Given the description of an element on the screen output the (x, y) to click on. 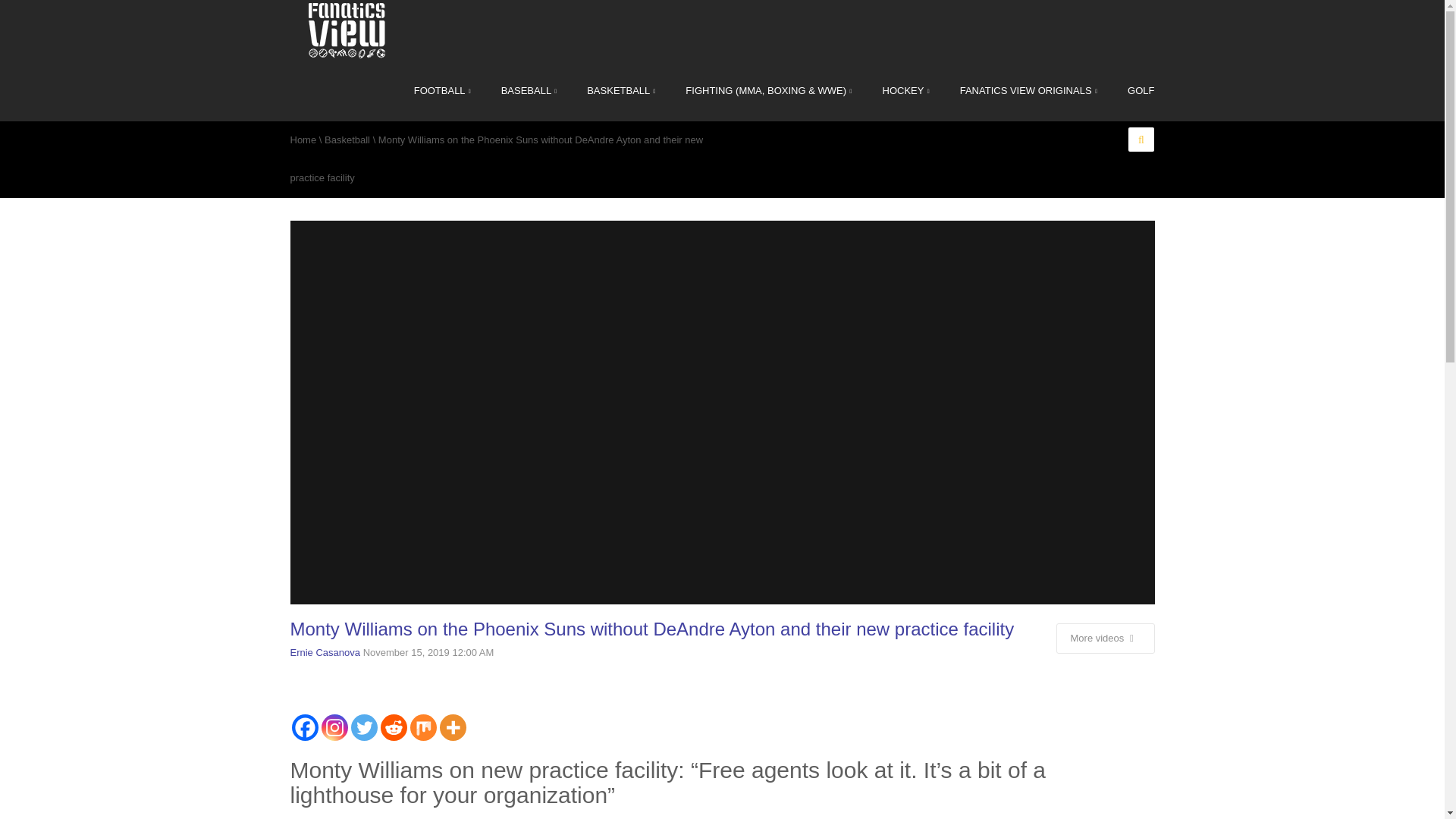
Home (302, 139)
FANATICS VIEW ORIGINALS (1028, 90)
FOOTBALL (442, 90)
BASEBALL (529, 90)
HOCKEY (905, 90)
BASKETBALL (620, 90)
GOLF (1133, 90)
Basketball (346, 139)
